Given the description of an element on the screen output the (x, y) to click on. 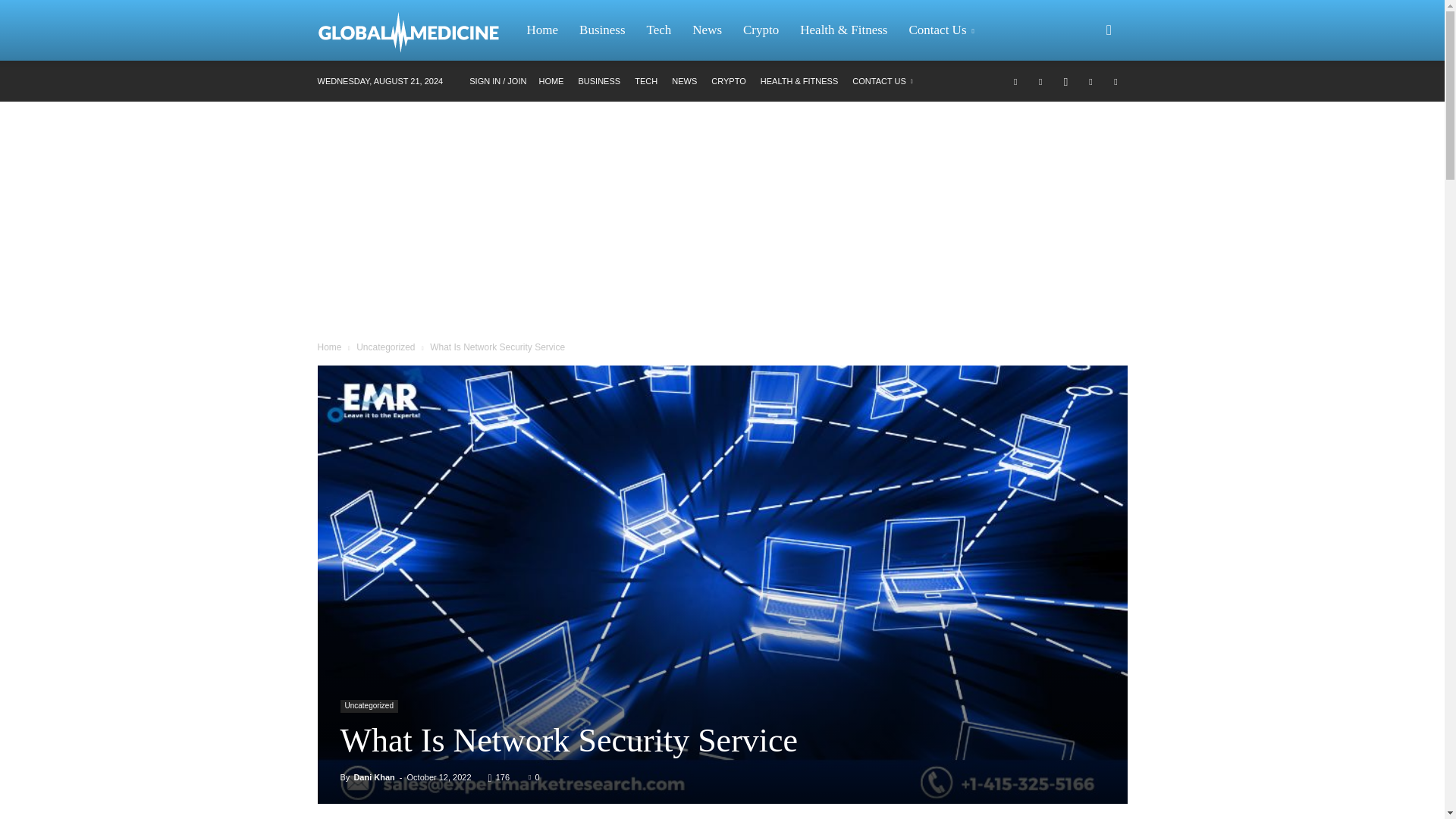
NEWS (684, 80)
HOME (550, 80)
Crypto (760, 30)
TECH (646, 80)
BUSINESS (599, 80)
Search (1085, 102)
Business (601, 30)
DailyTimeZone (416, 30)
View all posts in Uncategorized (385, 347)
